Given the description of an element on the screen output the (x, y) to click on. 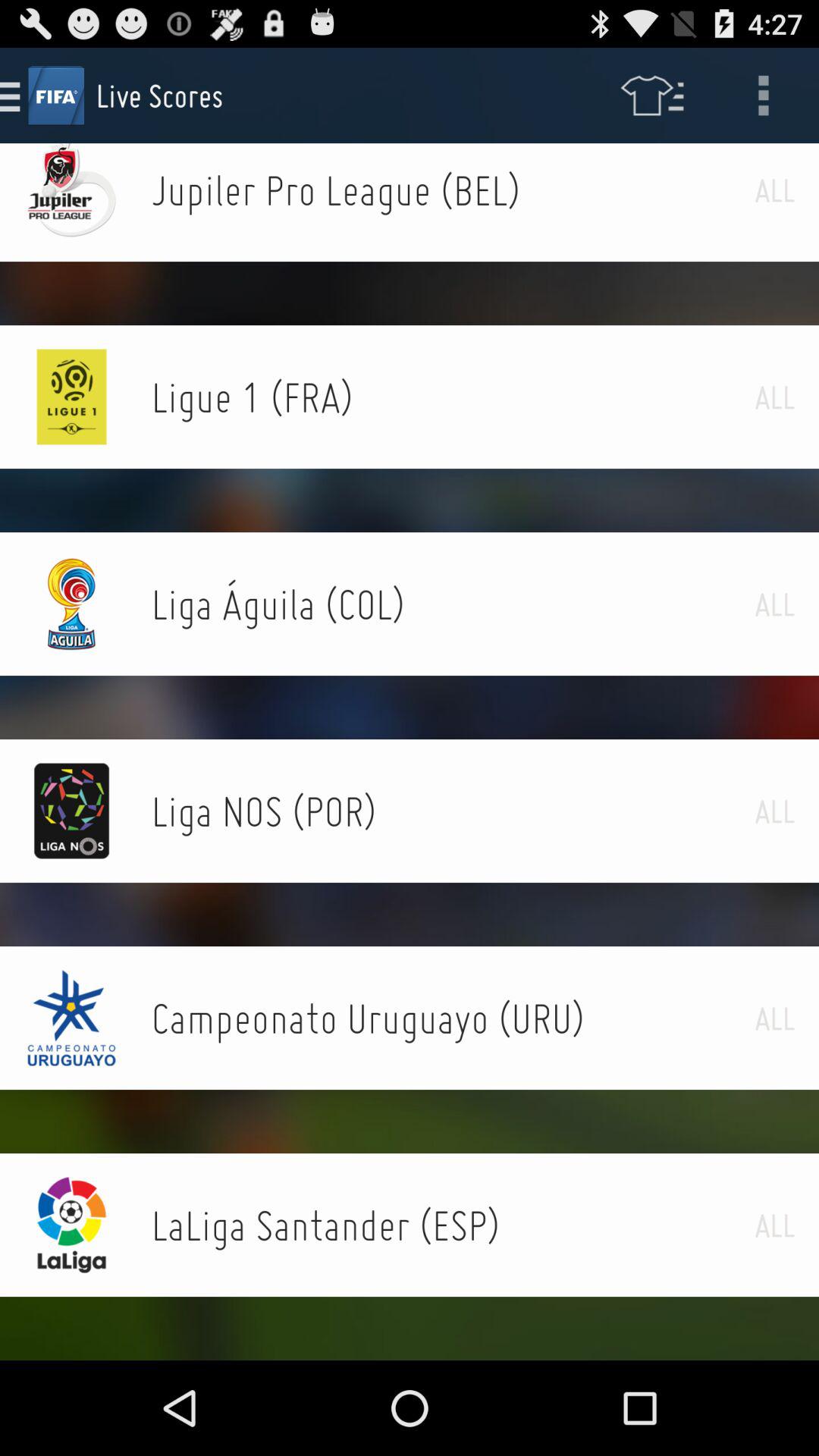
choose the item next to all icon (452, 396)
